Given the description of an element on the screen output the (x, y) to click on. 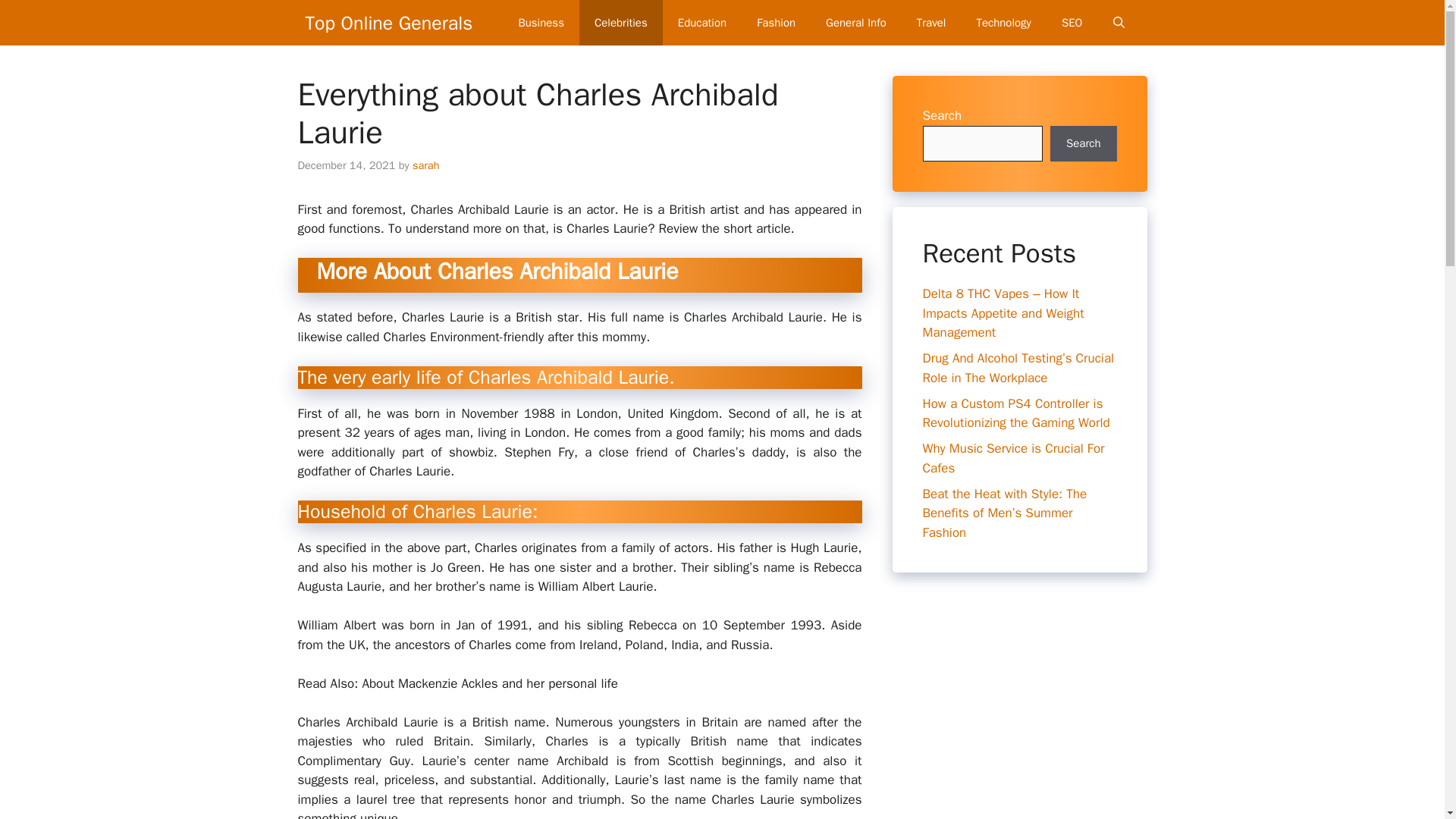
Fashion (775, 22)
SEO (1071, 22)
Search (1082, 144)
About Mackenzie Ackles and her personal life (489, 683)
Business (540, 22)
Celebrities (620, 22)
General Info (855, 22)
Technology (1003, 22)
Top Online Generals (387, 22)
